Given the description of an element on the screen output the (x, y) to click on. 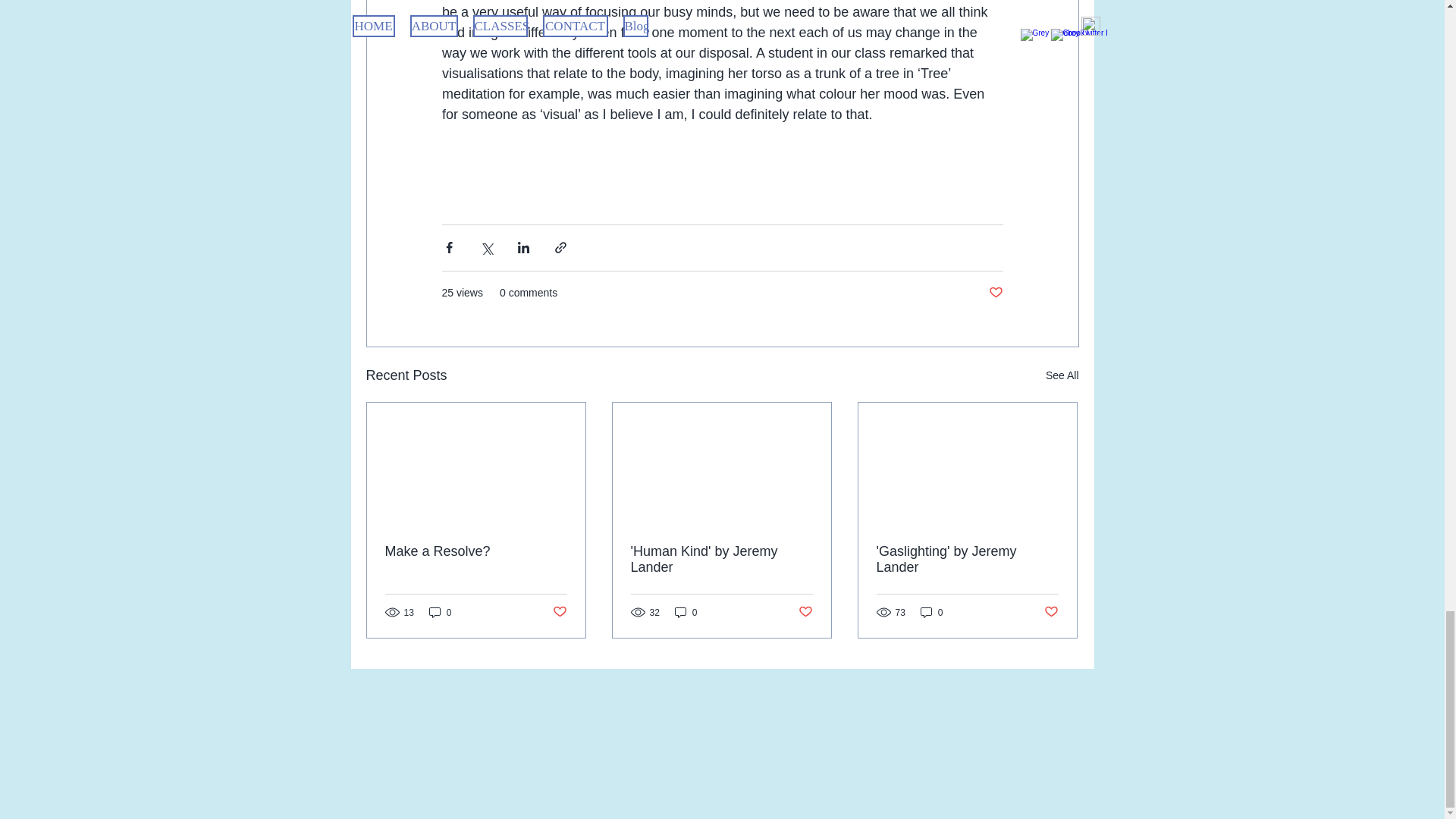
0 (931, 612)
0 (440, 612)
Post not marked as liked (558, 611)
See All (1061, 375)
Post not marked as liked (804, 611)
'Gaslighting' by Jeremy Lander (967, 559)
'Human Kind' by Jeremy Lander (721, 559)
Post not marked as liked (995, 293)
Post not marked as liked (1050, 611)
0 (685, 612)
